Given the description of an element on the screen output the (x, y) to click on. 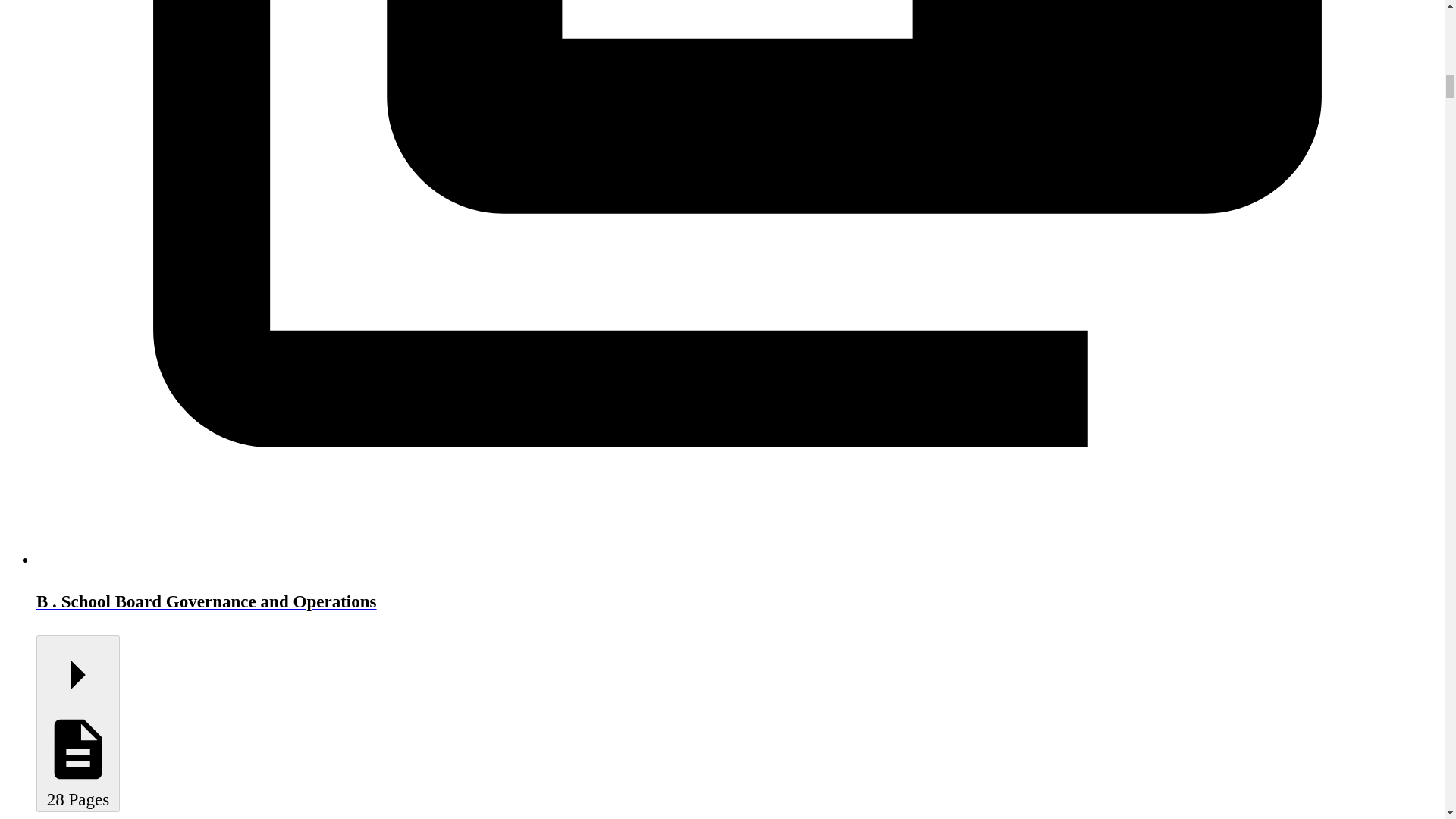
28 Pages (77, 723)
